Given the description of an element on the screen output the (x, y) to click on. 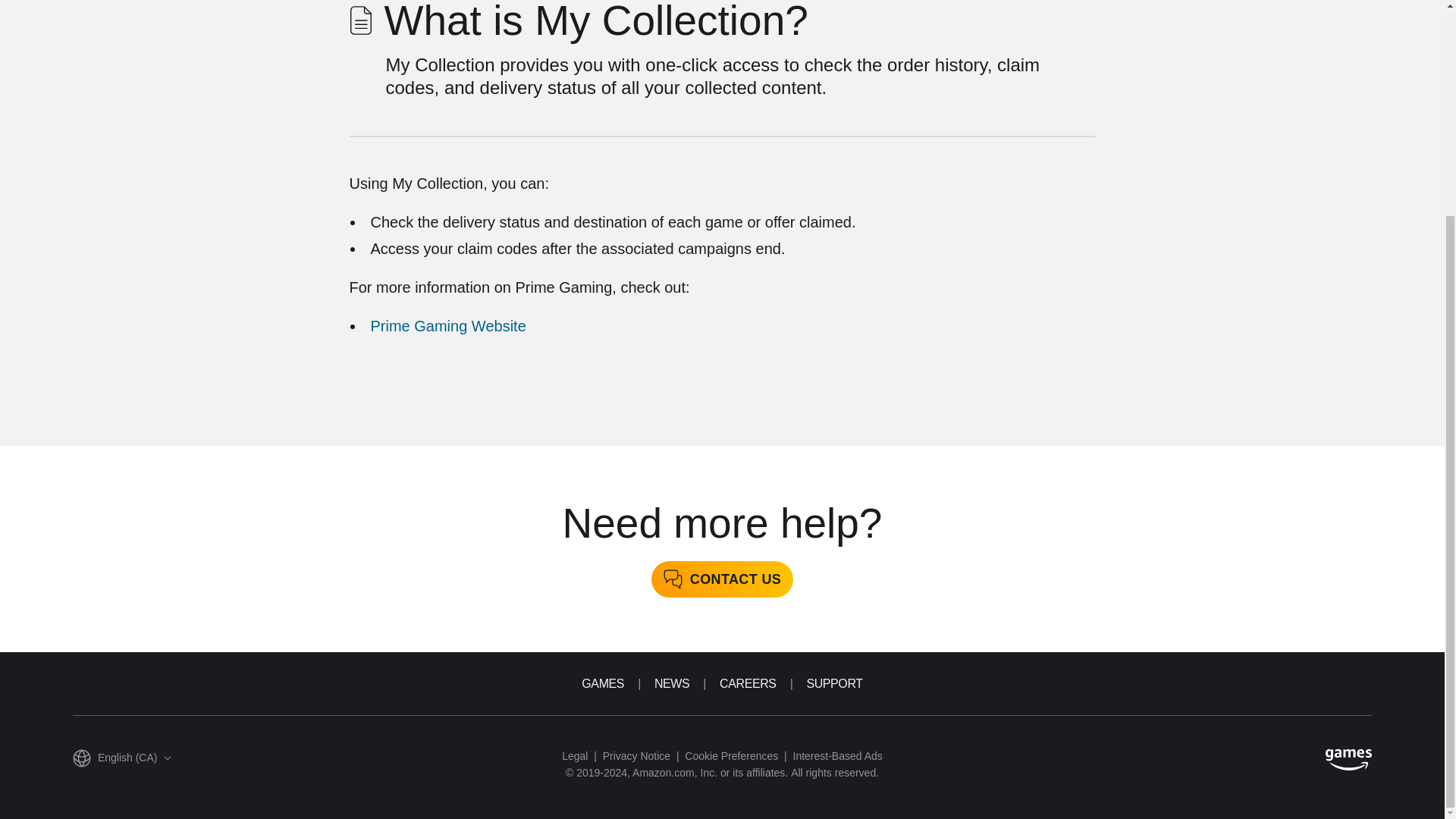
Legal (575, 755)
SUPPORT (833, 683)
Prime Gaming Website (447, 325)
CAREERS (747, 683)
GAMES (602, 683)
NEWS (670, 683)
